Given the description of an element on the screen output the (x, y) to click on. 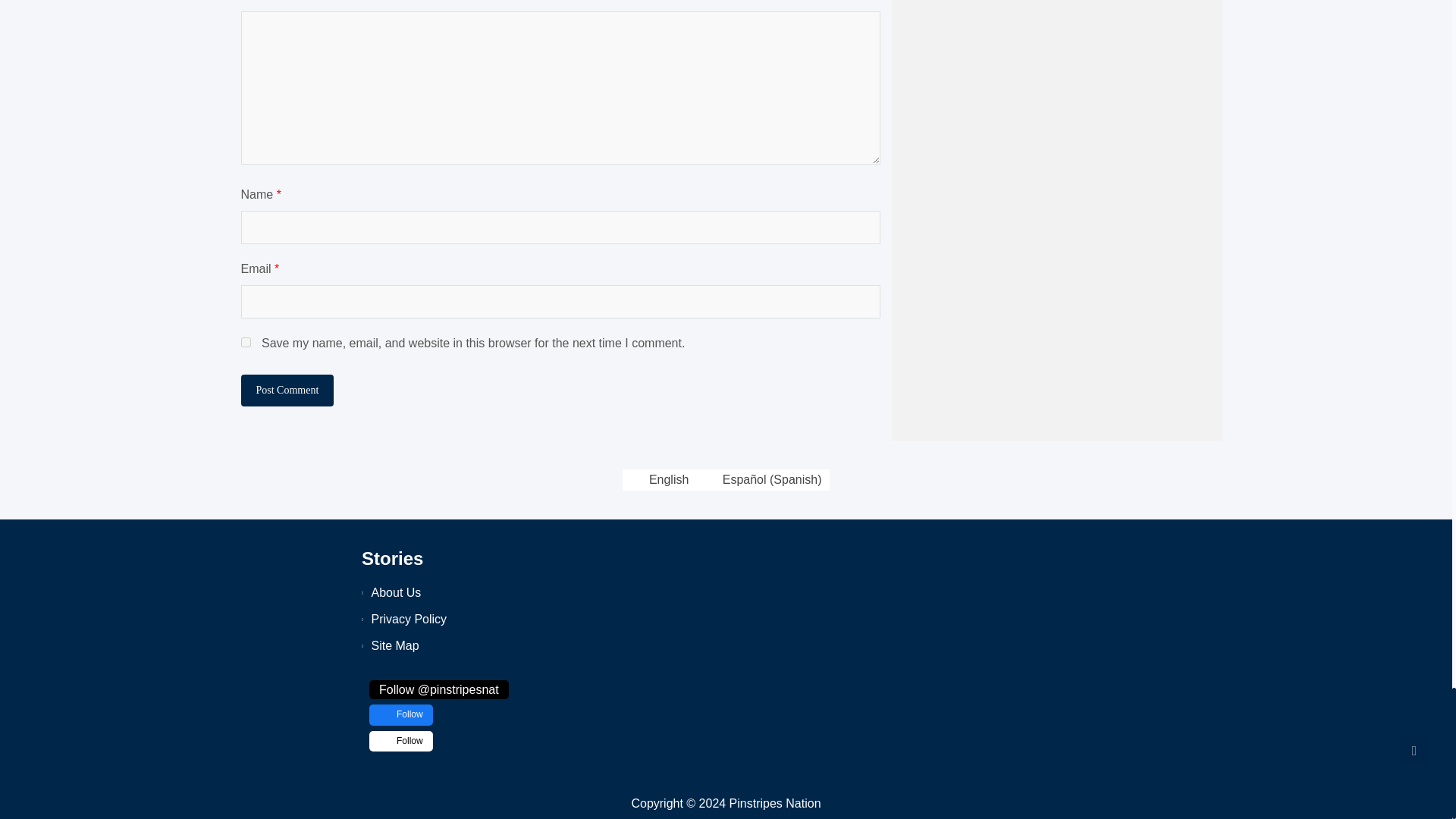
yes (245, 342)
Post Comment (287, 390)
